Given the description of an element on the screen output the (x, y) to click on. 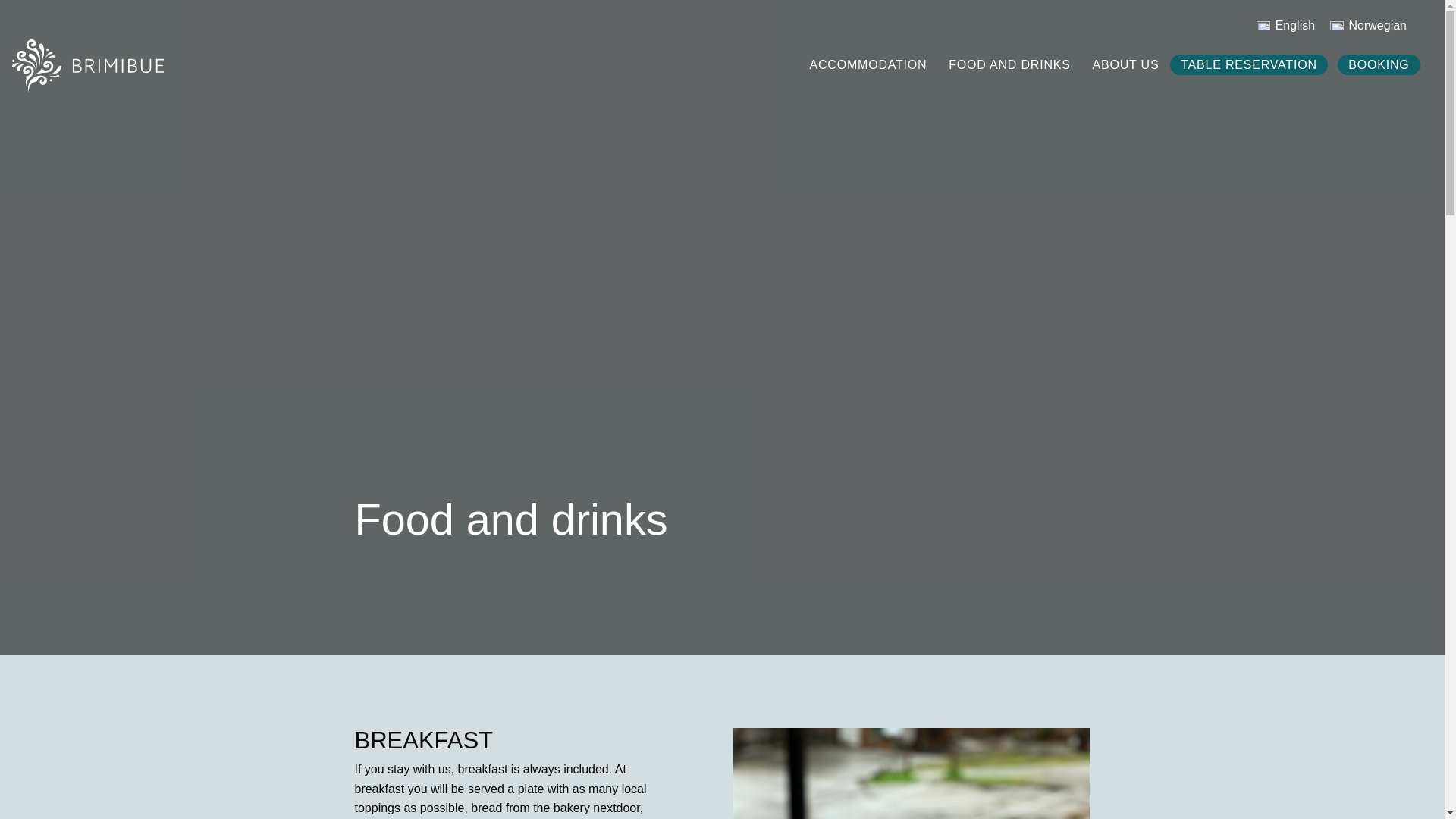
English (1285, 25)
ABOUT US (1125, 64)
FOOD AND DRINKS (1009, 64)
Norwegian (1367, 25)
ACCOMMODATION (867, 64)
BOOKING (1379, 64)
TABLE RESERVATION (1248, 64)
